Given the description of an element on the screen output the (x, y) to click on. 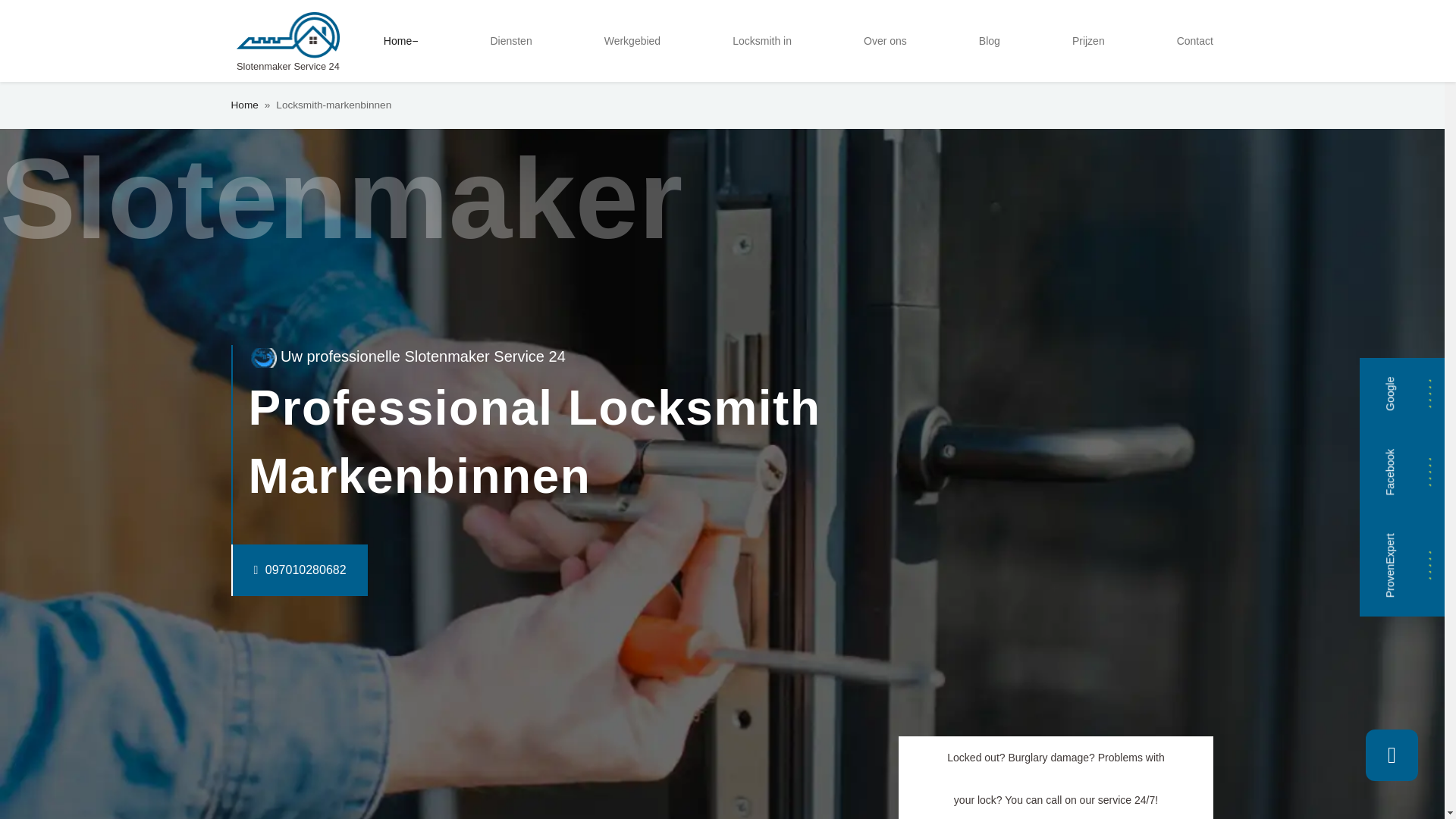
Locksmith in (761, 40)
Home (401, 40)
Slotenmaker Service 24 (287, 40)
Blog (989, 40)
Werkgebied (632, 40)
Prijzen (1087, 40)
Home (243, 105)
Over ons (884, 40)
097010280682 (268, 570)
Contact (1195, 40)
Diensten (510, 40)
